Given the description of an element on the screen output the (x, y) to click on. 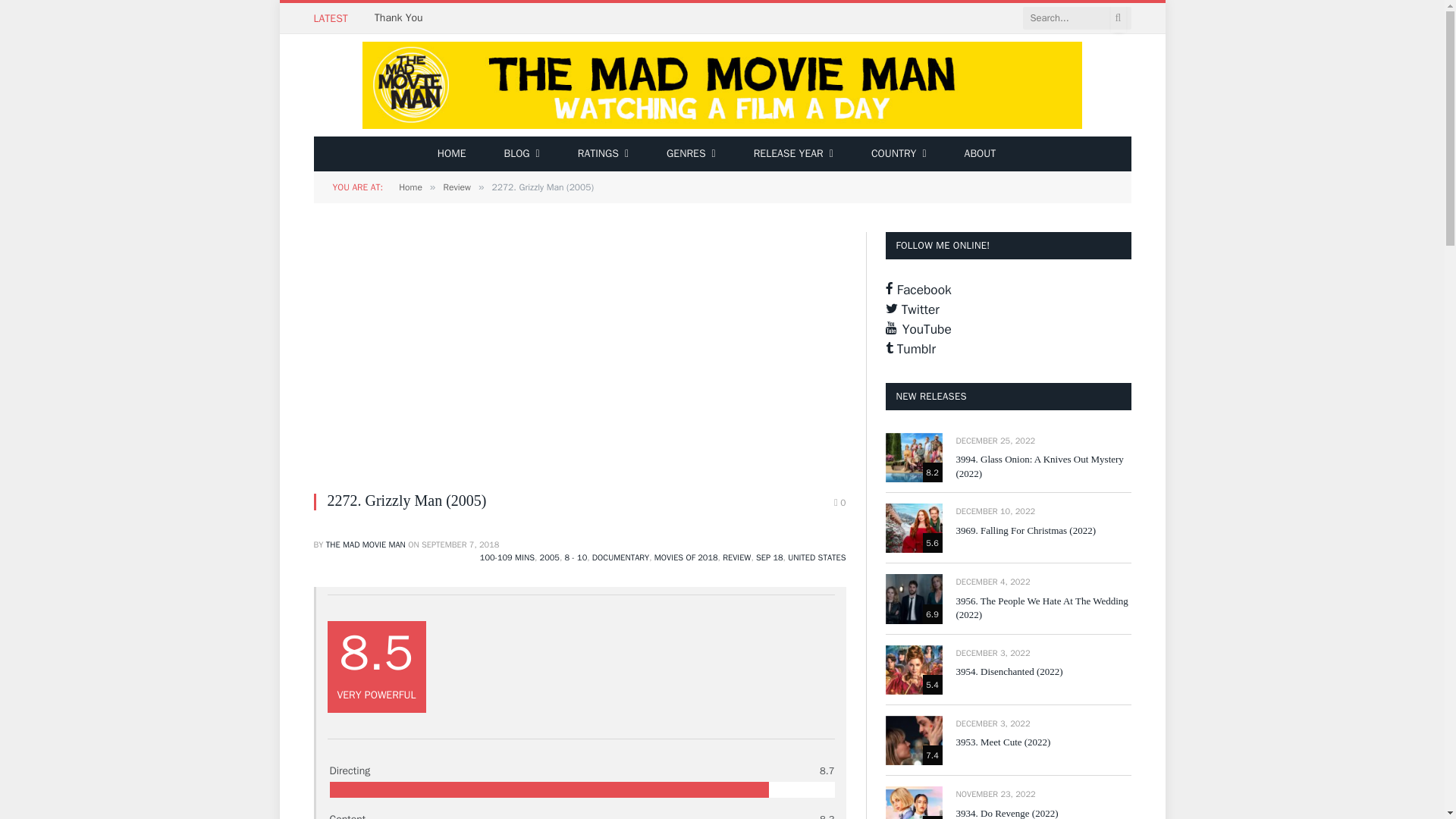
2018-09-07 (460, 543)
Posts by The Mad Movie Man (366, 543)
BLOG (520, 153)
RATINGS (603, 153)
The Mad Movie Man (722, 85)
HOME (451, 153)
Thank You (402, 18)
